Given the description of an element on the screen output the (x, y) to click on. 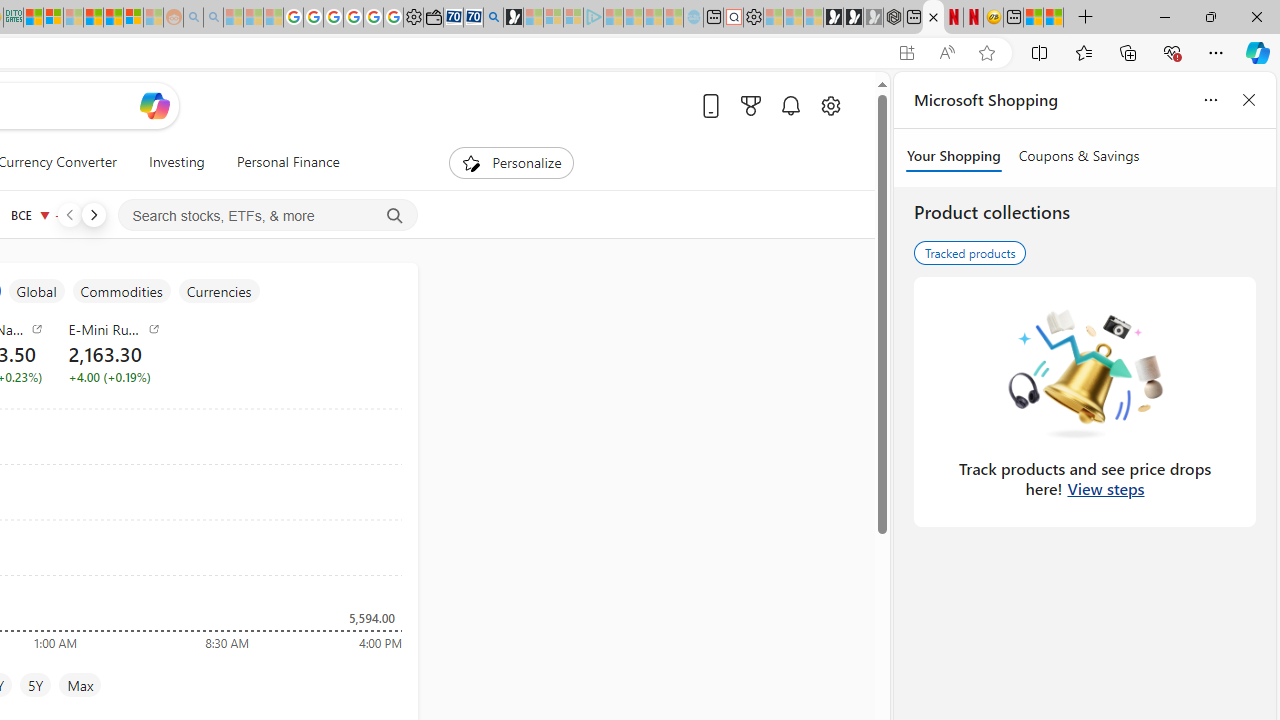
Expert Portfolios (93, 17)
item5 (218, 291)
Investing (176, 162)
